Given the description of an element on the screen output the (x, y) to click on. 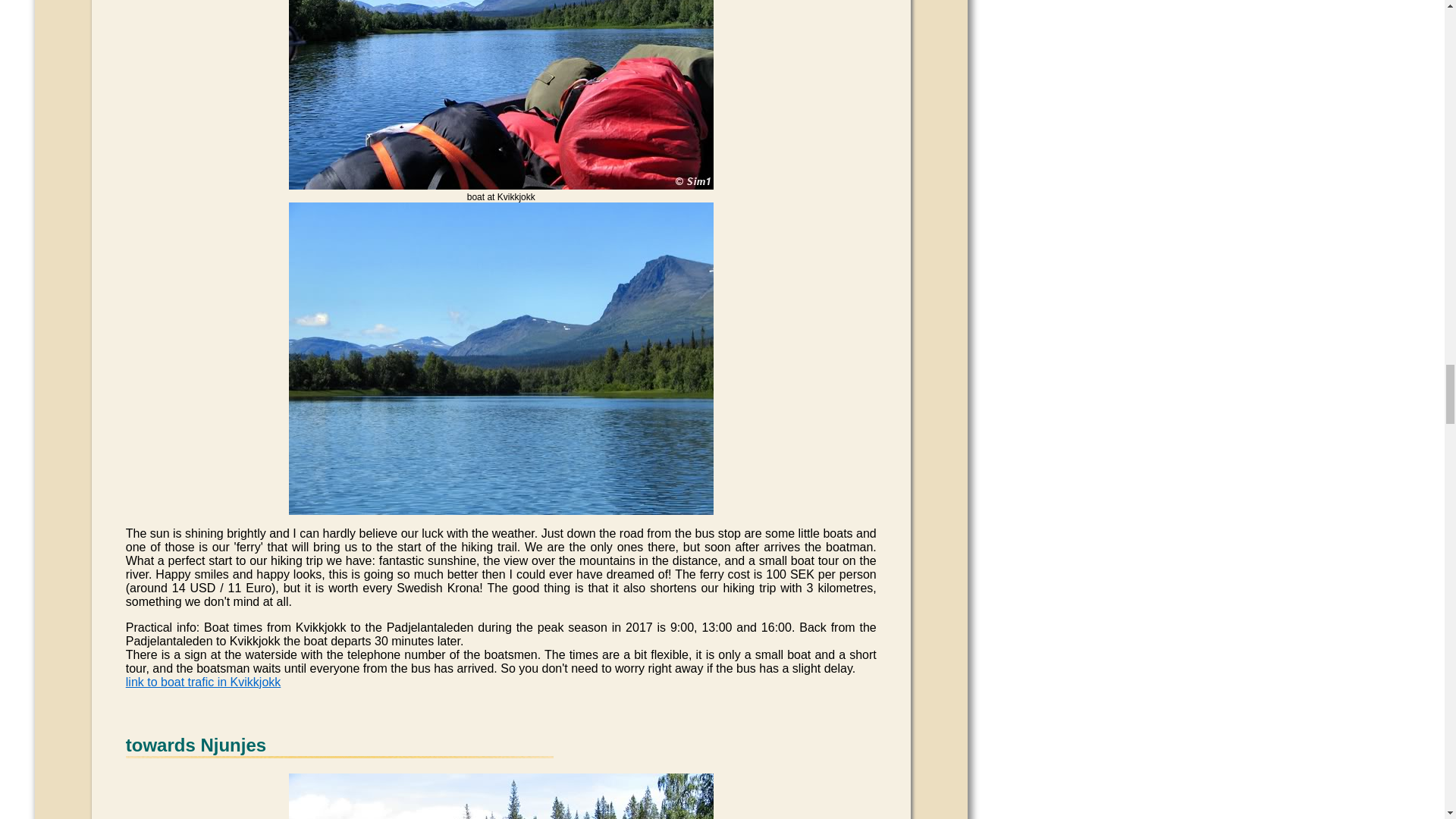
link to boat trafic in Kvikkjokk (203, 681)
